Given the description of an element on the screen output the (x, y) to click on. 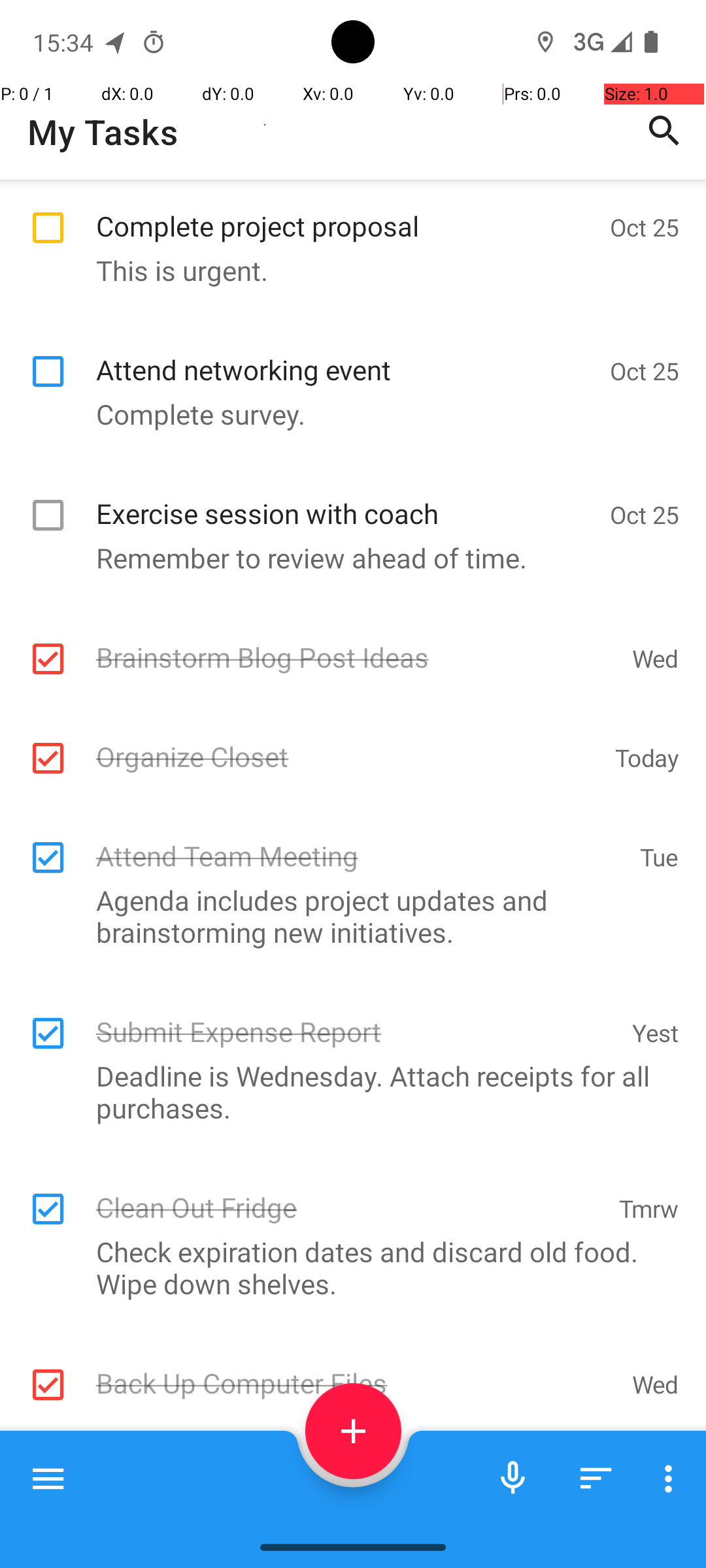
Complete project proposal Element type: android.widget.TextView (346, 211)
This is urgent. Element type: android.widget.TextView (346, 269)
Oct 25 Element type: android.widget.TextView (644, 226)
Attend networking event Element type: android.widget.TextView (346, 355)
Complete survey. Element type: android.widget.TextView (346, 413)
Exercise session with coach Element type: android.widget.TextView (346, 499)
Remember to review ahead of time. Element type: android.widget.TextView (346, 557)
